Given the description of an element on the screen output the (x, y) to click on. 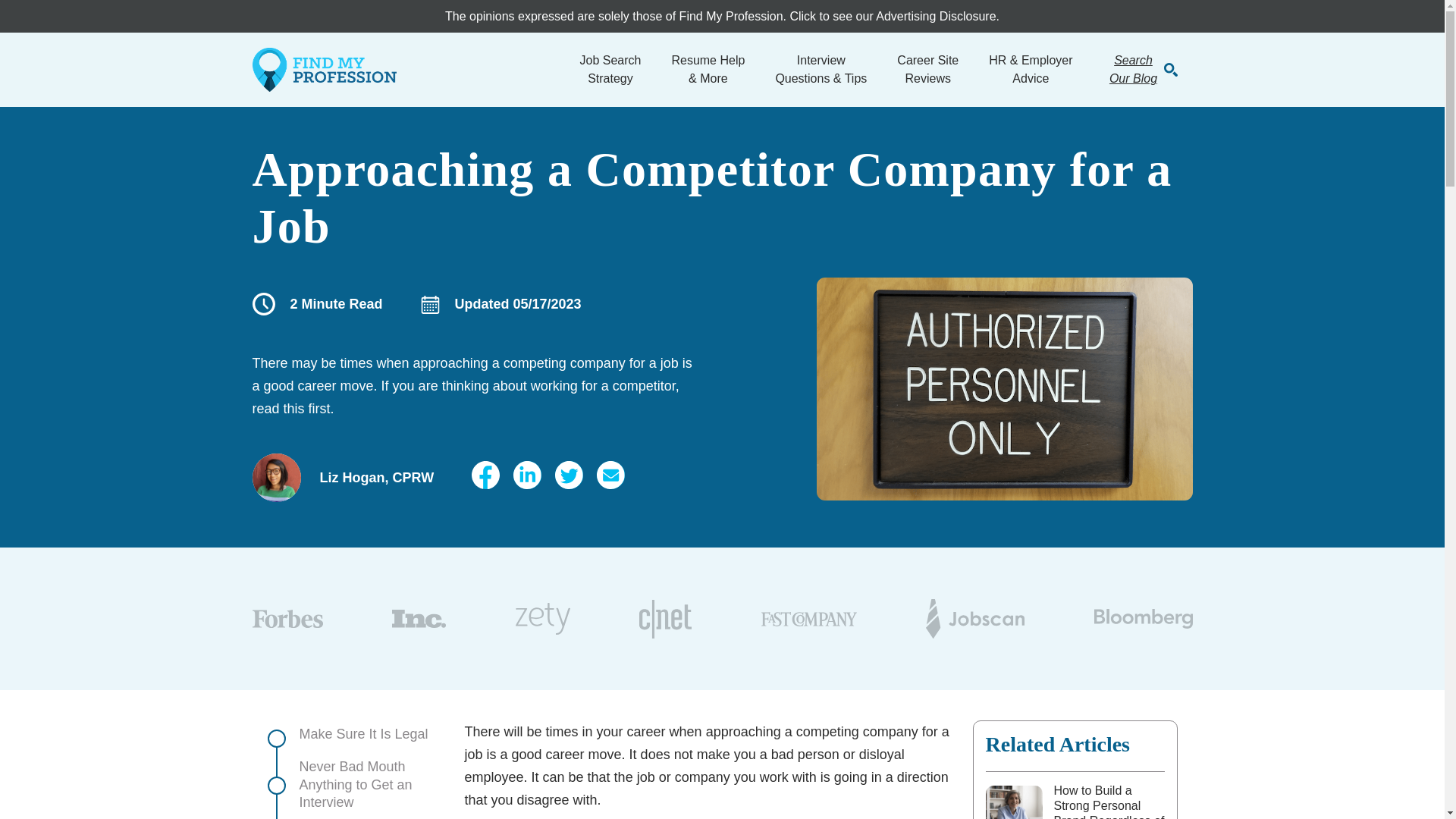
Search Our Blog (927, 69)
Make Sure It Is Legal (609, 69)
Job Search Strategy (1132, 69)
Never Bad Mouth Anything to Get an Interview (353, 733)
Advertising Disclosure. (609, 69)
How to Build a Strong Personal Brand Regardless of Age (353, 784)
